Given the description of an element on the screen output the (x, y) to click on. 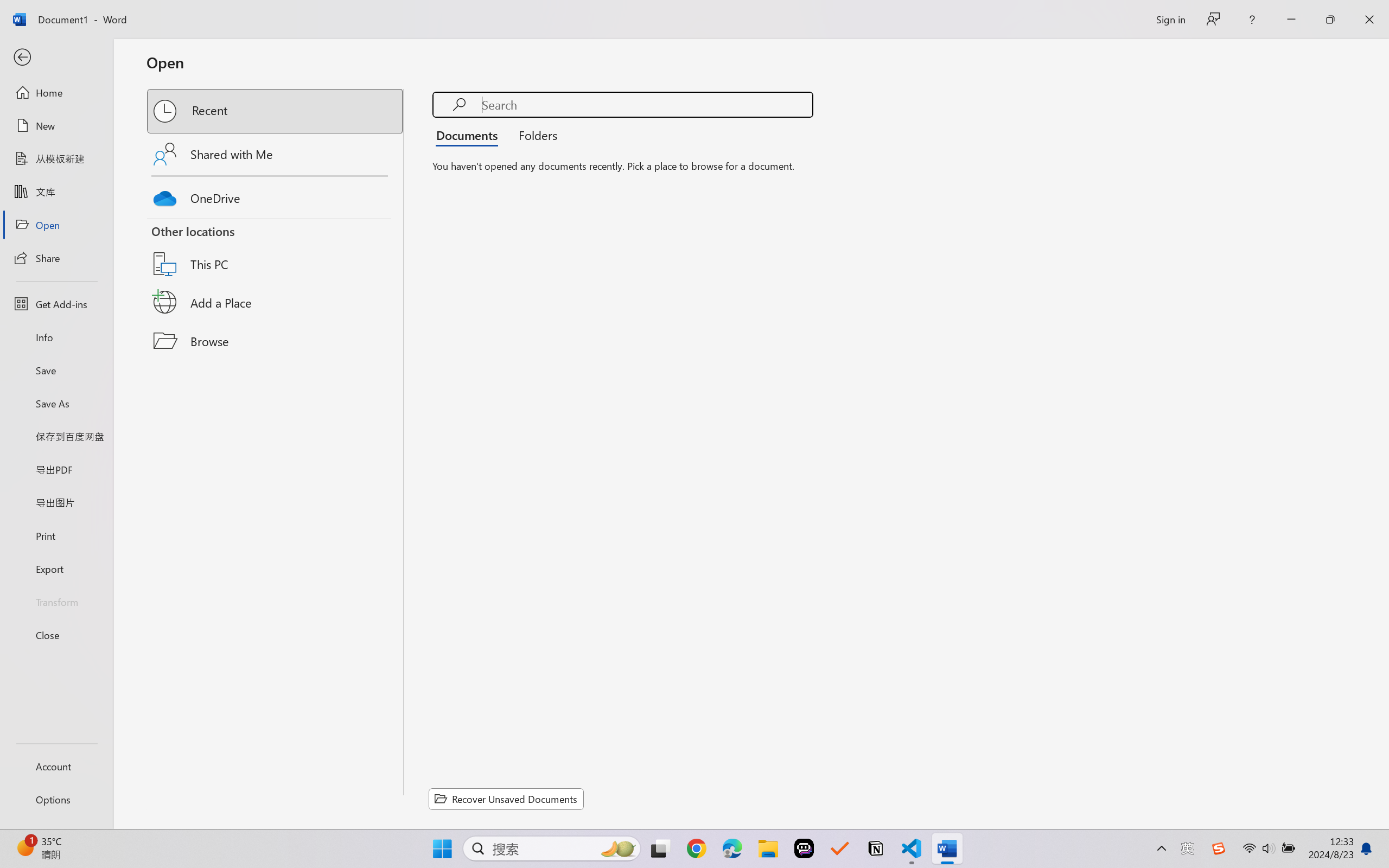
New (56, 125)
Options (56, 798)
Documents (469, 134)
Recover Unsaved Documents (506, 798)
Get Add-ins (56, 303)
